Given the description of an element on the screen output the (x, y) to click on. 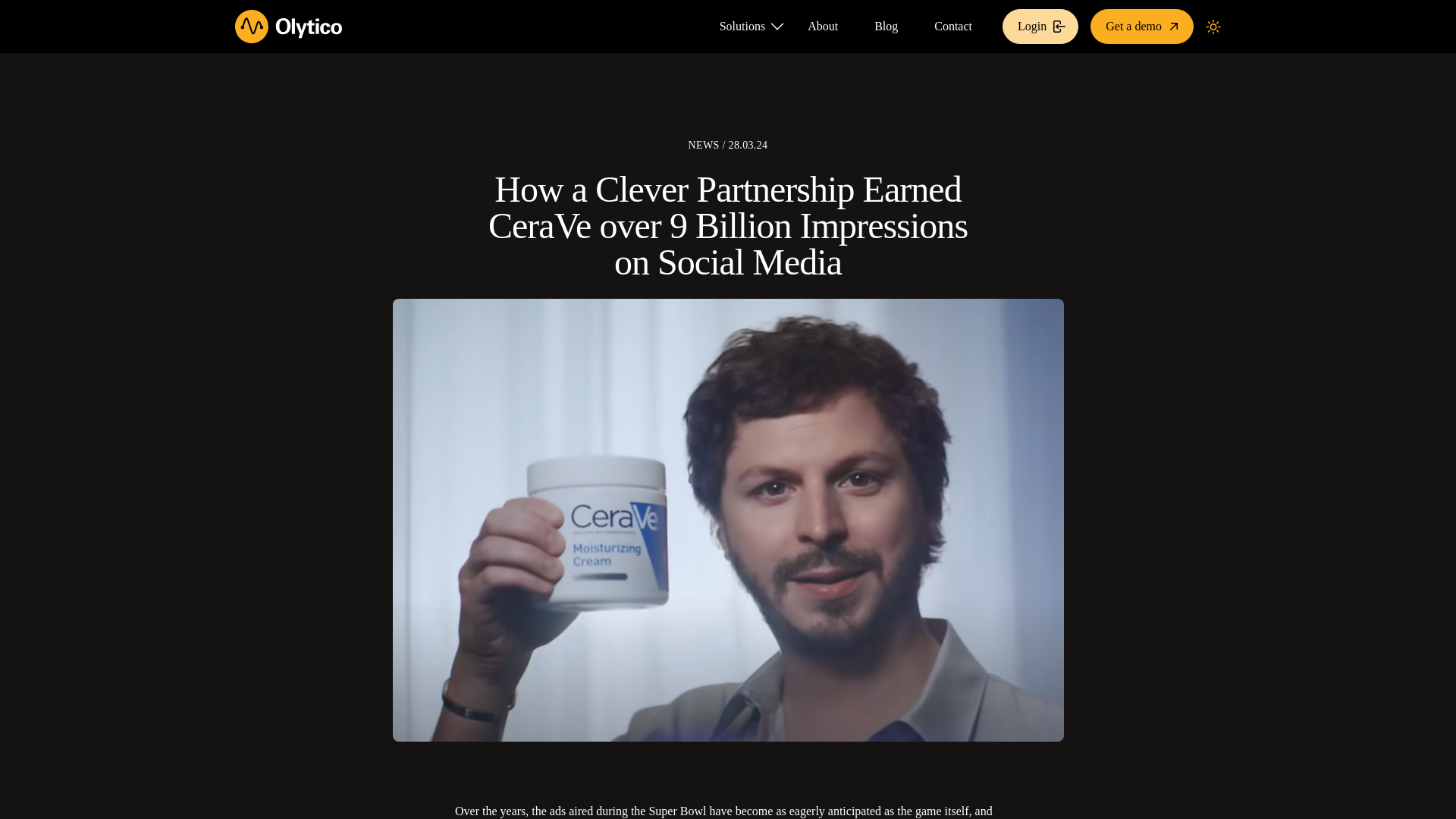
Blog (885, 26)
Contact (952, 26)
About (822, 26)
Login (1040, 26)
Get a demo (1141, 26)
Link to home page (288, 26)
Solutions (745, 40)
